Given the description of an element on the screen output the (x, y) to click on. 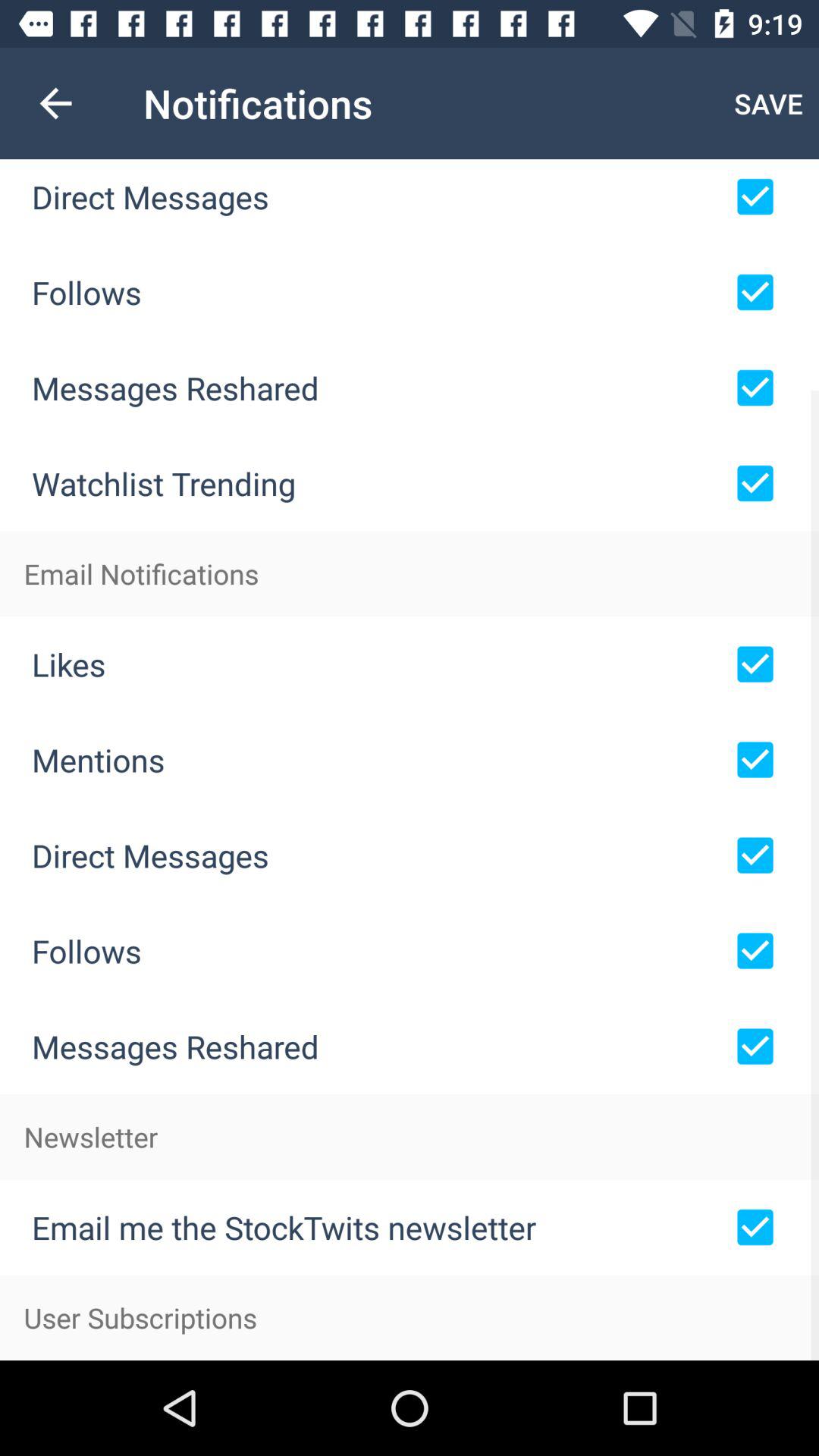
turn on the icon next to the notifications (768, 103)
